Given the description of an element on the screen output the (x, y) to click on. 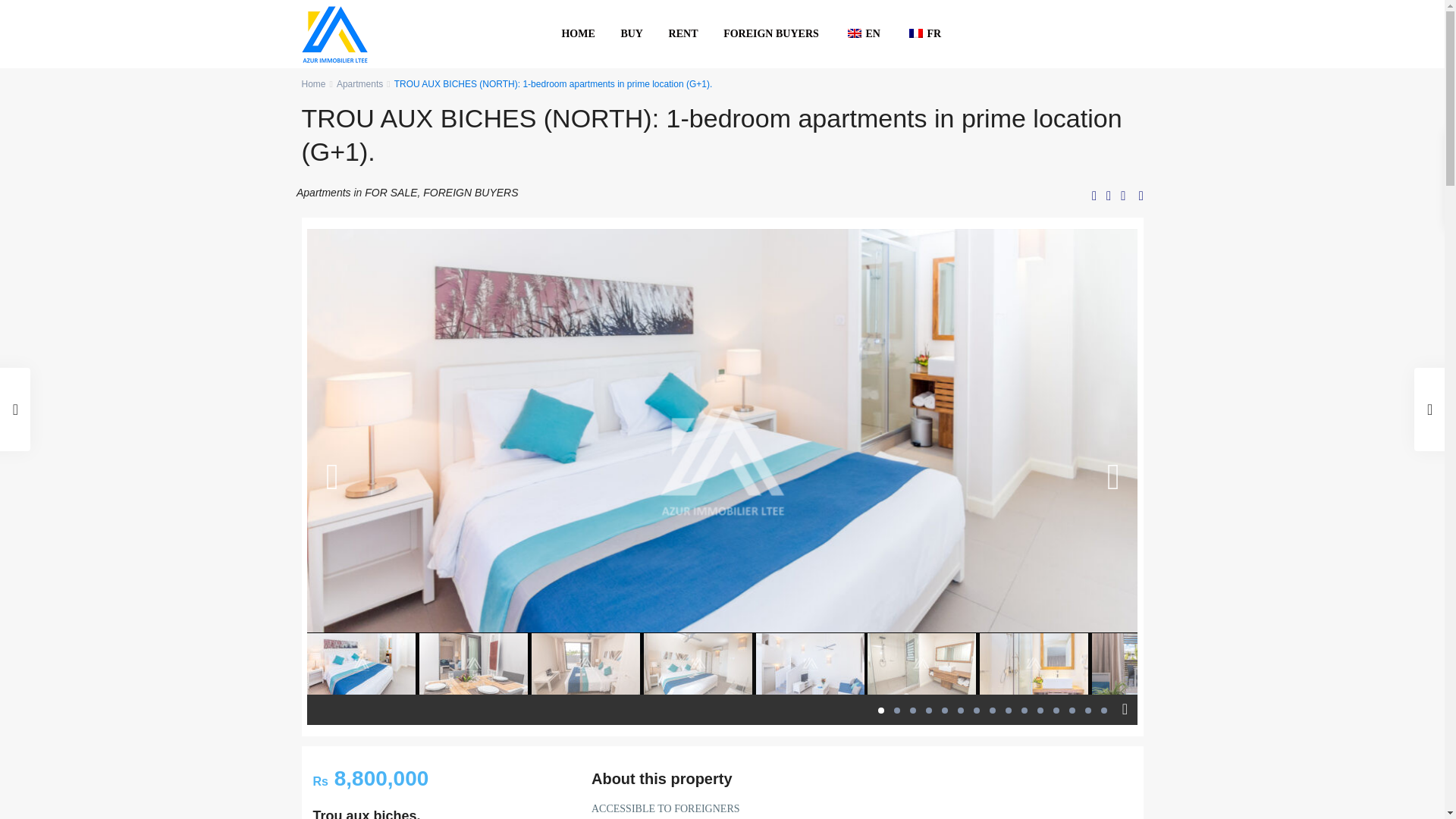
English (854, 32)
French (915, 32)
FOREIGN BUYERS (770, 33)
